Given the description of an element on the screen output the (x, y) to click on. 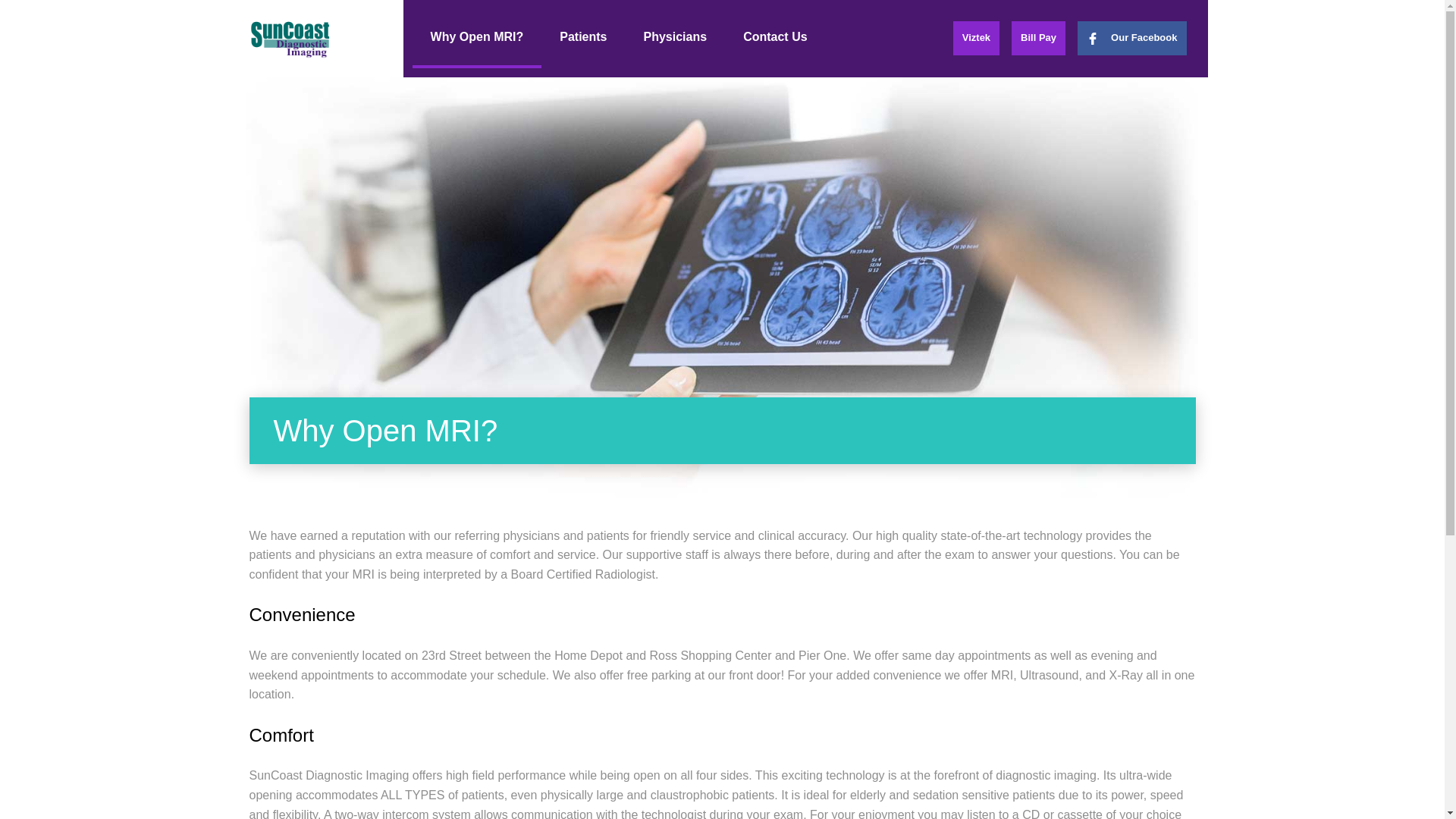
Patients (582, 38)
Contact Us (775, 38)
Why Open MRI? (476, 38)
Bill Pay (1038, 38)
Our Facebook (1131, 38)
Physicians (675, 38)
Viztek (975, 38)
